Given the description of an element on the screen output the (x, y) to click on. 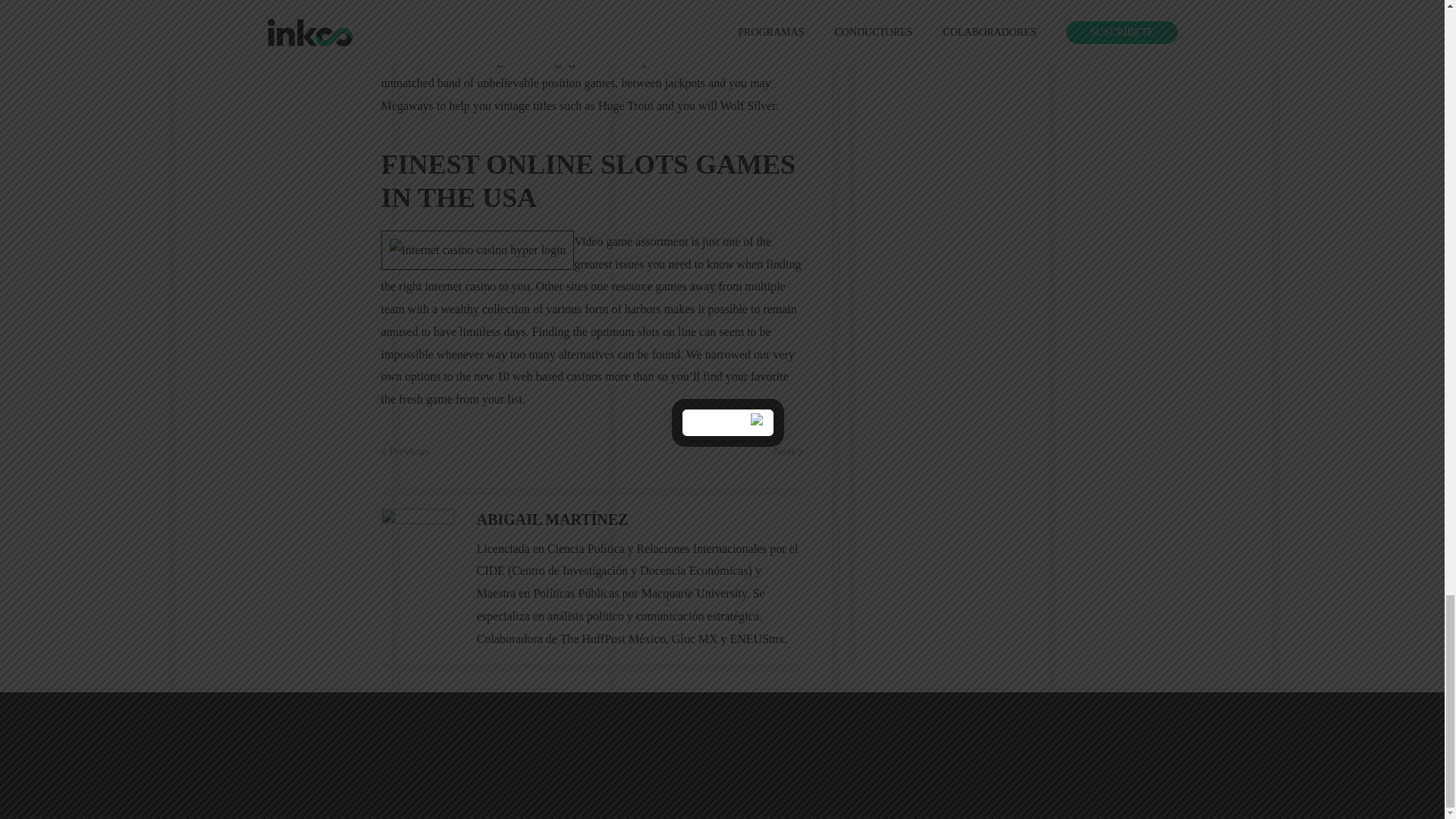
Next (788, 451)
Previous (404, 451)
